Given the description of an element on the screen output the (x, y) to click on. 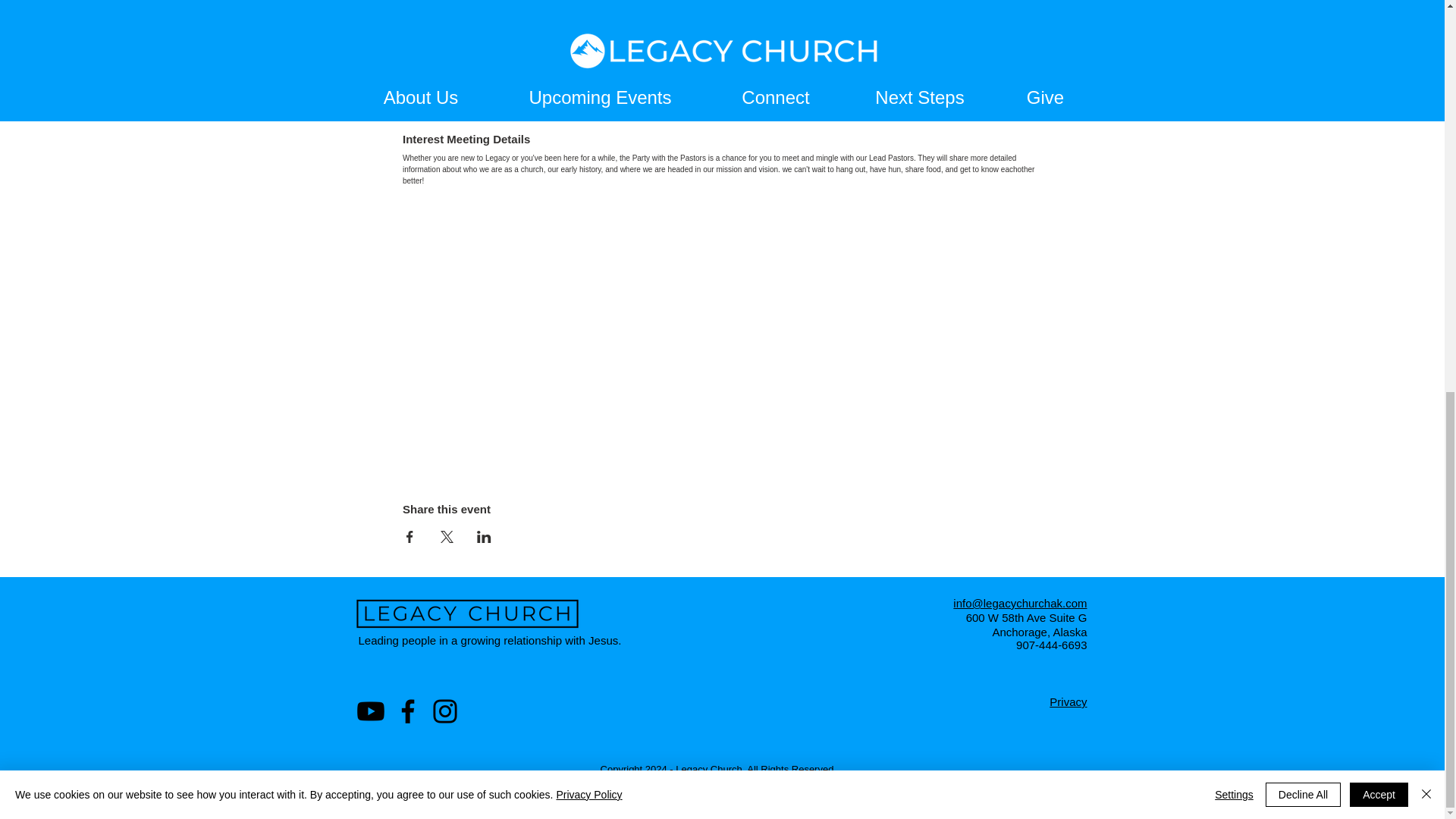
Privacy Policy (588, 42)
Accept (1378, 43)
Privacy (1067, 701)
Decline All (1302, 43)
